Given the description of an element on the screen output the (x, y) to click on. 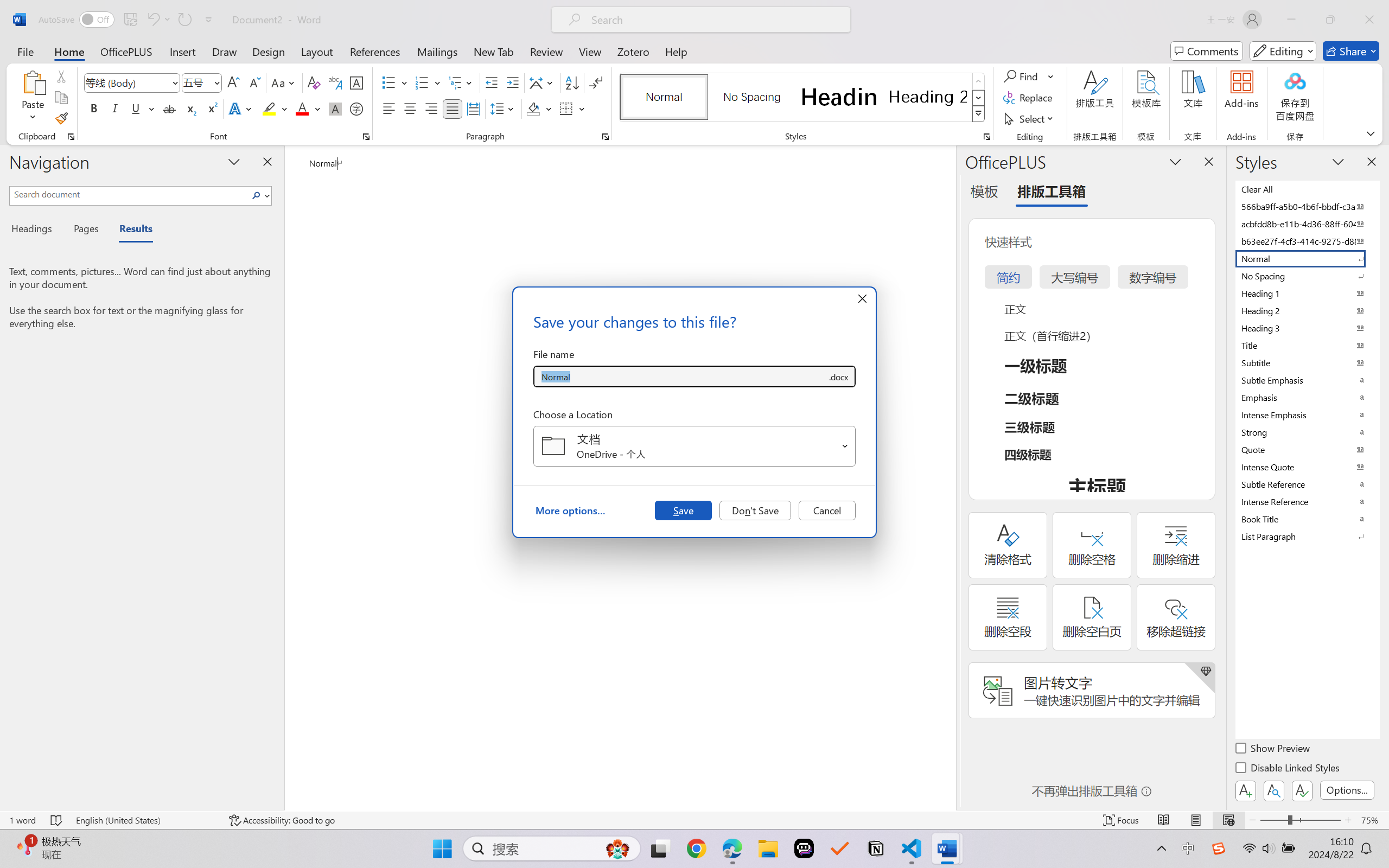
File name (680, 376)
Language English (United States) (144, 819)
Results (130, 229)
Class: NetUIScrollBar (948, 477)
View (589, 51)
Superscript (210, 108)
Font... (365, 136)
Save (682, 509)
